Given the description of an element on the screen output the (x, y) to click on. 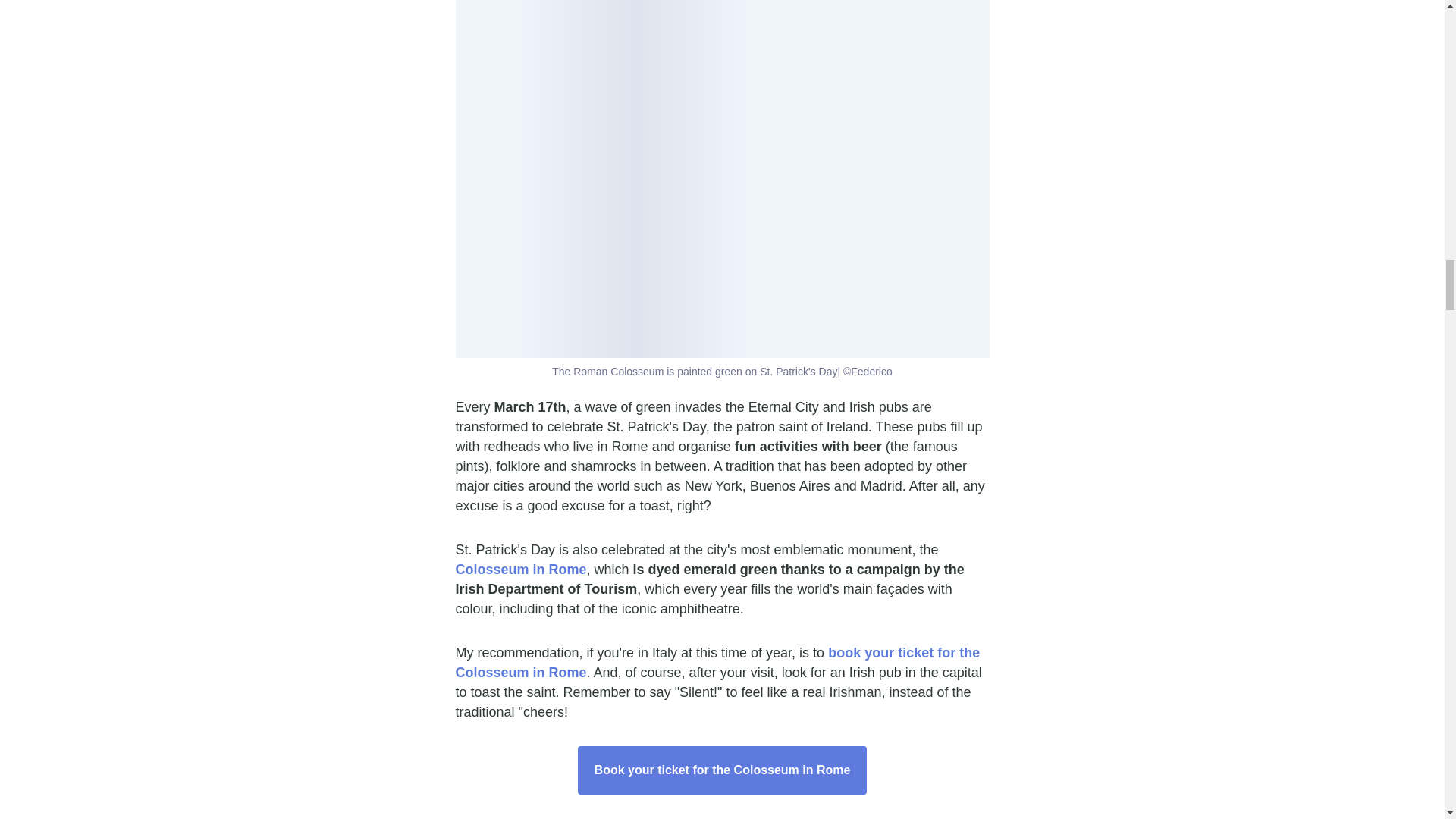
book your ticket for the Colosseum in Rome (716, 662)
Colosseum in Rome (520, 569)
Book your ticket for the Colosseum in Rome (722, 770)
